Given the description of an element on the screen output the (x, y) to click on. 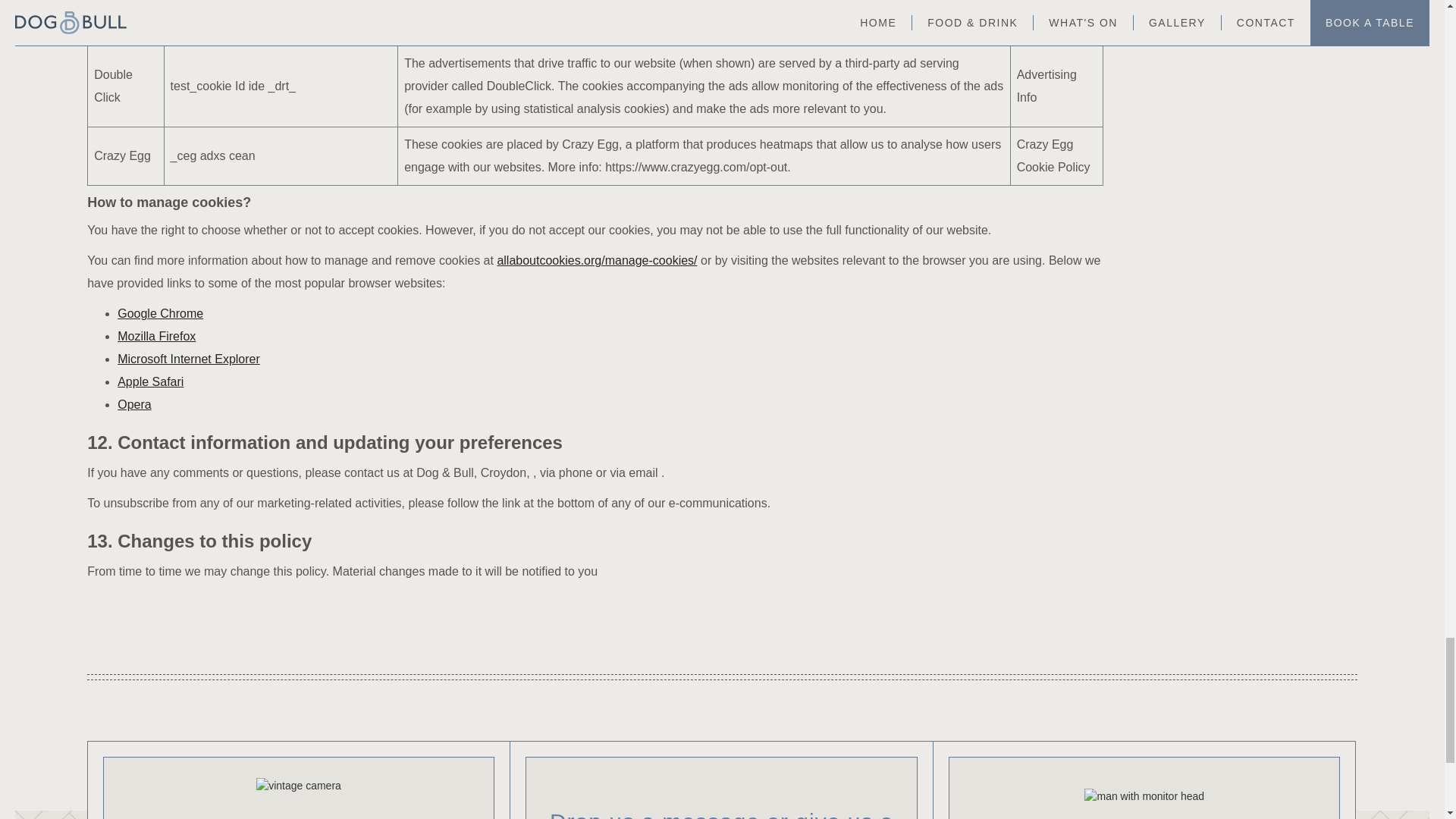
Google Chrome (160, 313)
Apple Safari (150, 381)
Mozilla Firefox (156, 336)
Microsoft Internet Explorer (188, 358)
Opera (134, 404)
